Given the description of an element on the screen output the (x, y) to click on. 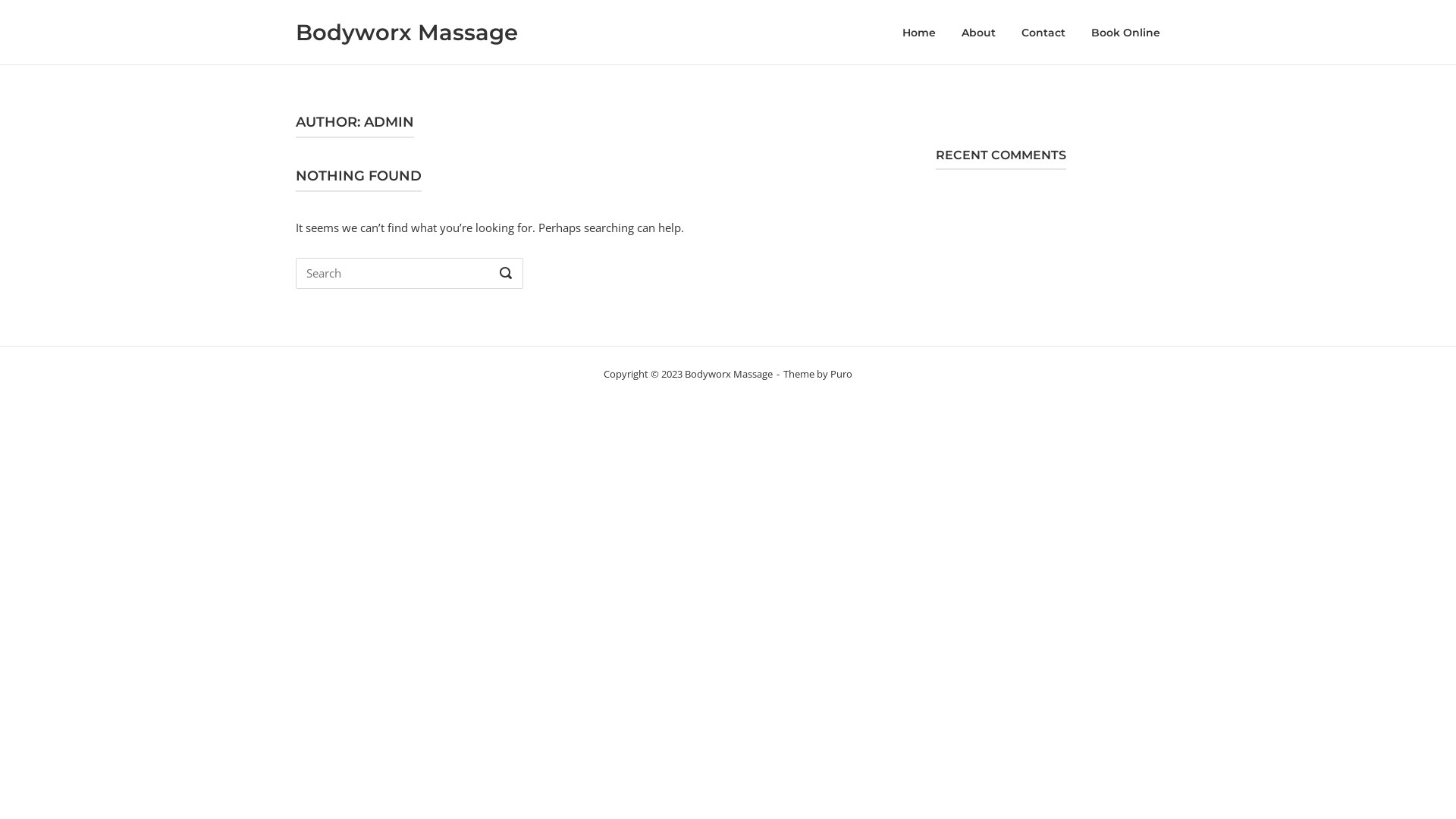
Bodyworx Massage Element type: text (406, 31)
Puro Element type: text (841, 373)
SEARCH Element type: text (505, 273)
About Element type: text (978, 32)
Book Online Element type: text (1125, 32)
Home Element type: text (918, 32)
Contact Element type: text (1043, 32)
